Given the description of an element on the screen output the (x, y) to click on. 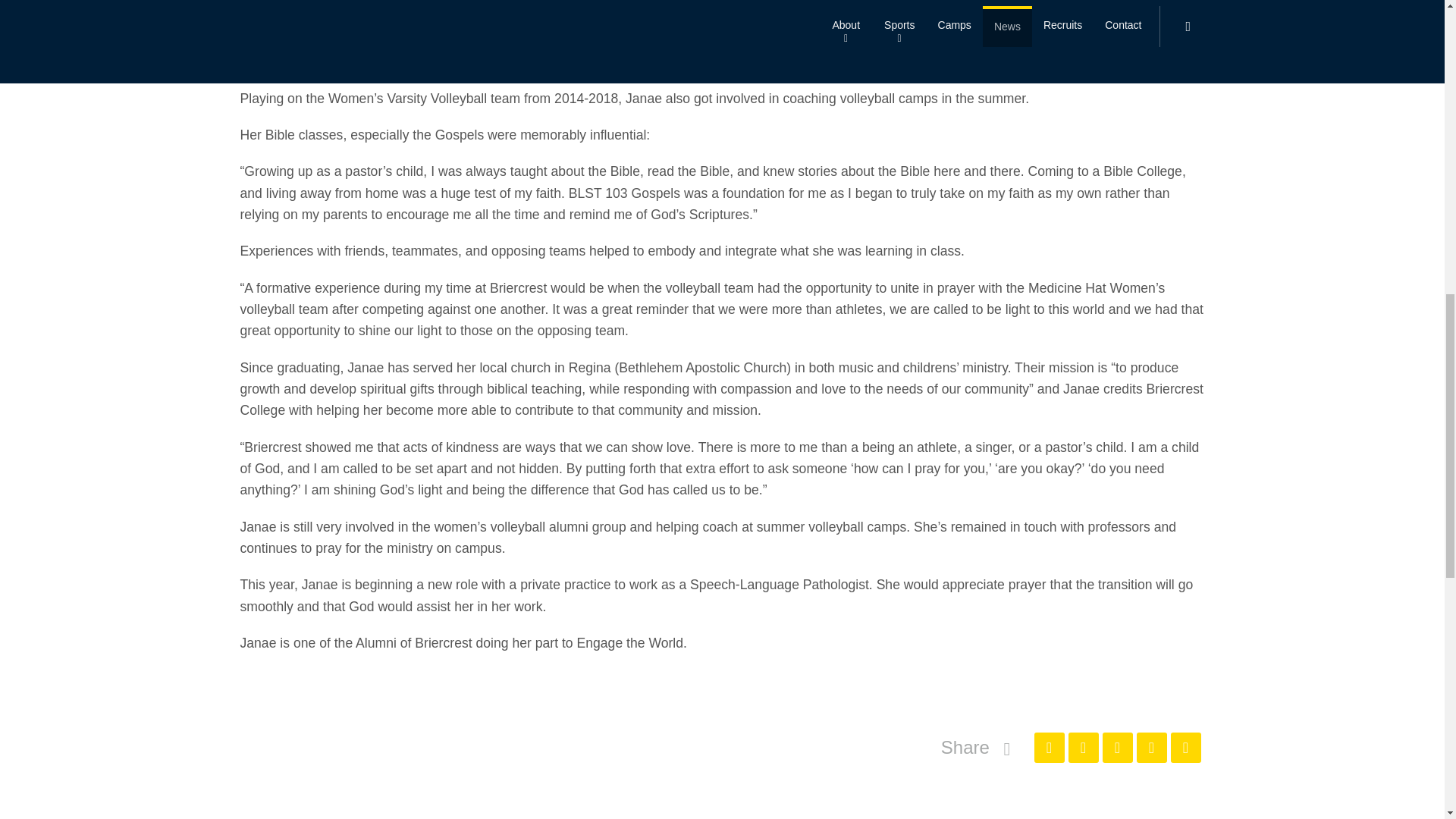
email a link to this (1185, 747)
share this to LinkedIn (1150, 747)
share this to my Twitter account (1082, 747)
share this to my Facebook page (1048, 747)
share this to Pinterest (1117, 747)
